Given the description of an element on the screen output the (x, y) to click on. 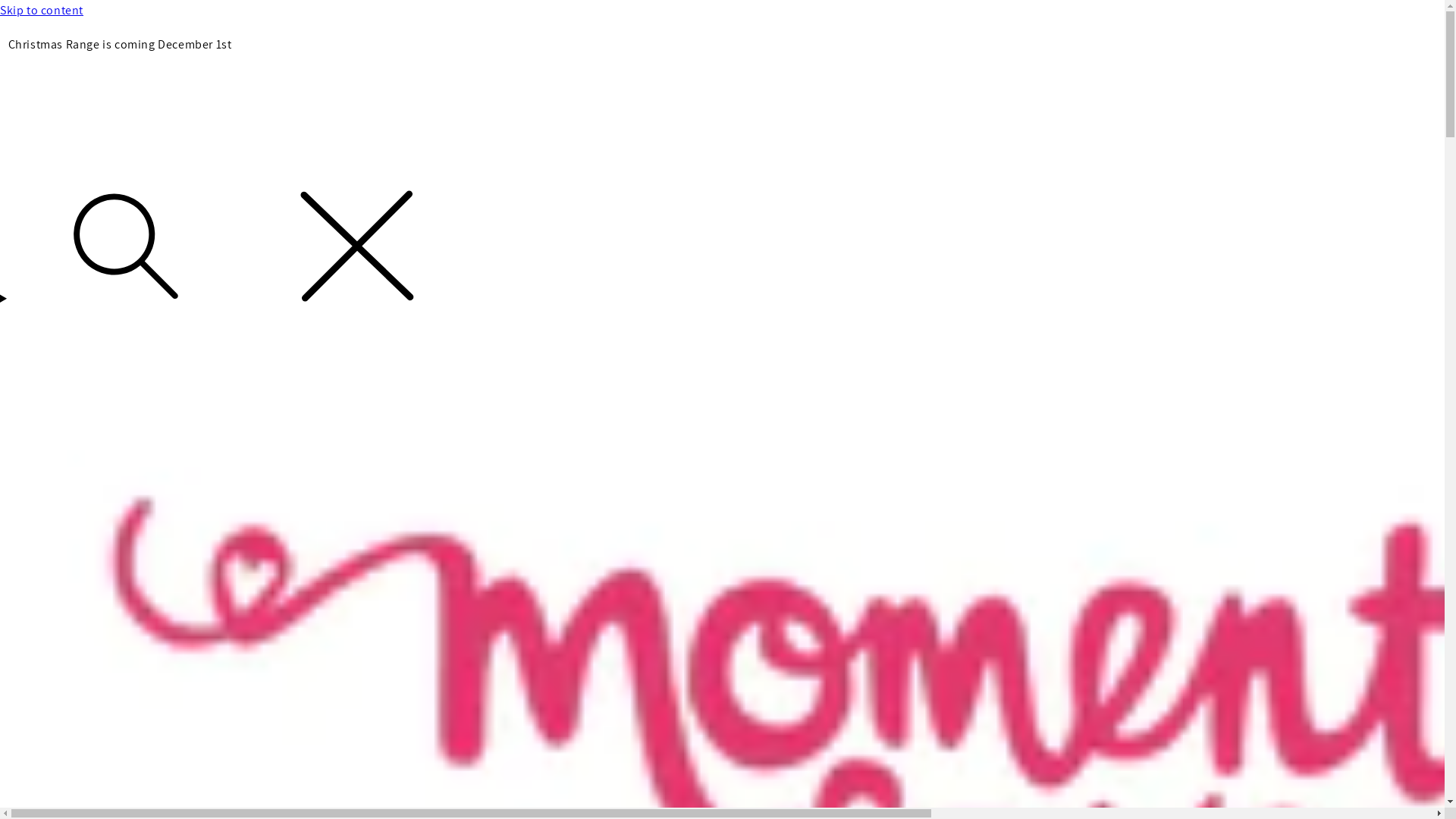
Skip to content Element type: text (722, 10)
